Given the description of an element on the screen output the (x, y) to click on. 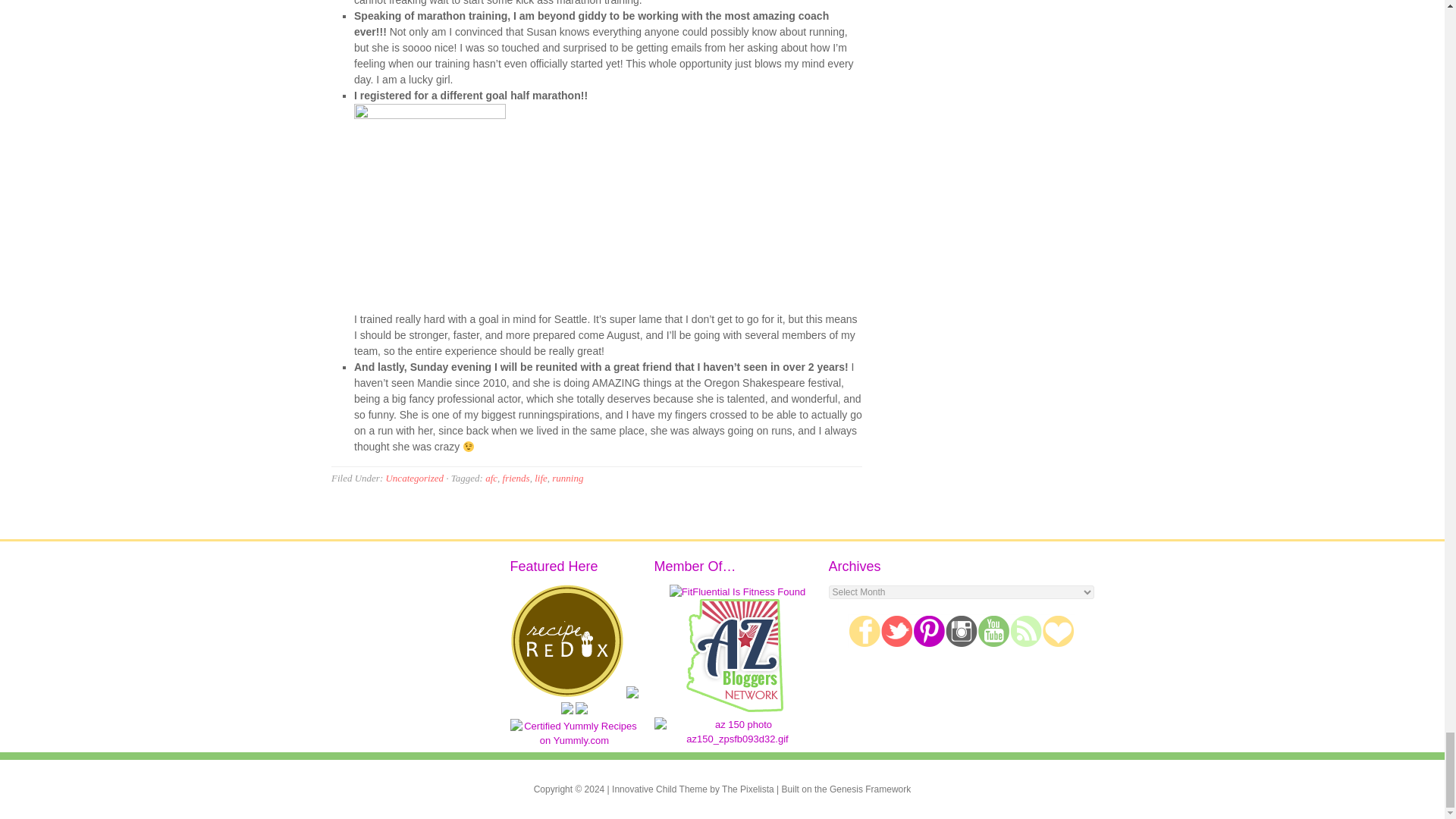
afc (429, 203)
